Given the description of an element on the screen output the (x, y) to click on. 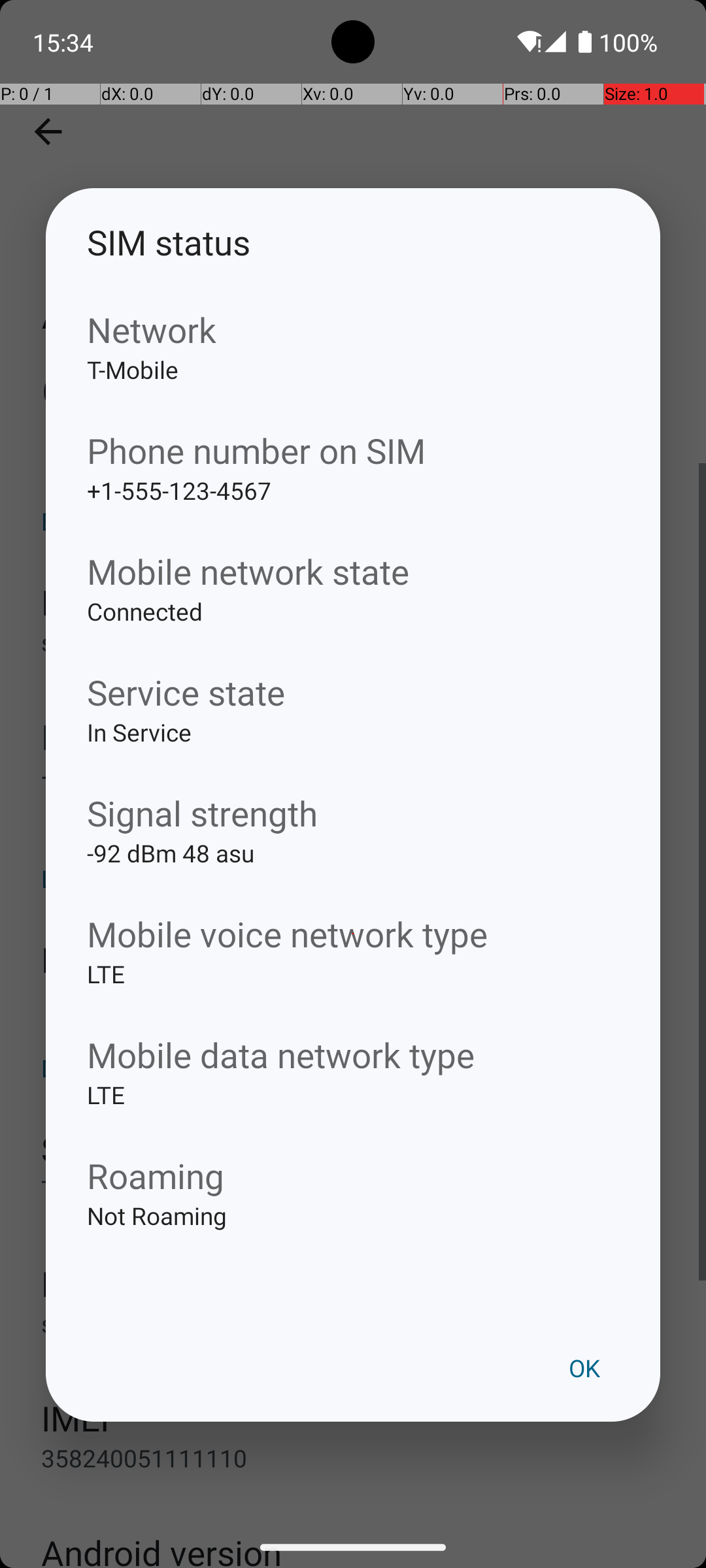
SIM status Element type: android.widget.TextView (352, 241)
Network Element type: android.widget.TextView (352, 329)
Phone number on SIM Element type: android.widget.TextView (352, 450)
+1-555-123-4567 Element type: android.widget.TextView (352, 510)
Mobile network state Element type: android.widget.TextView (352, 571)
Connected Element type: android.widget.TextView (352, 631)
Service state Element type: android.widget.TextView (352, 692)
In Service Element type: android.widget.TextView (352, 752)
Signal strength Element type: android.widget.TextView (352, 812)
-92 dBm 48 asu Element type: android.widget.TextView (352, 873)
Mobile voice network type Element type: android.widget.TextView (352, 933)
LTE Element type: android.widget.TextView (352, 994)
Mobile data network type Element type: android.widget.TextView (352, 1054)
Roaming Element type: android.widget.TextView (352, 1175)
Not Roaming Element type: android.widget.TextView (352, 1235)
